Given the description of an element on the screen output the (x, y) to click on. 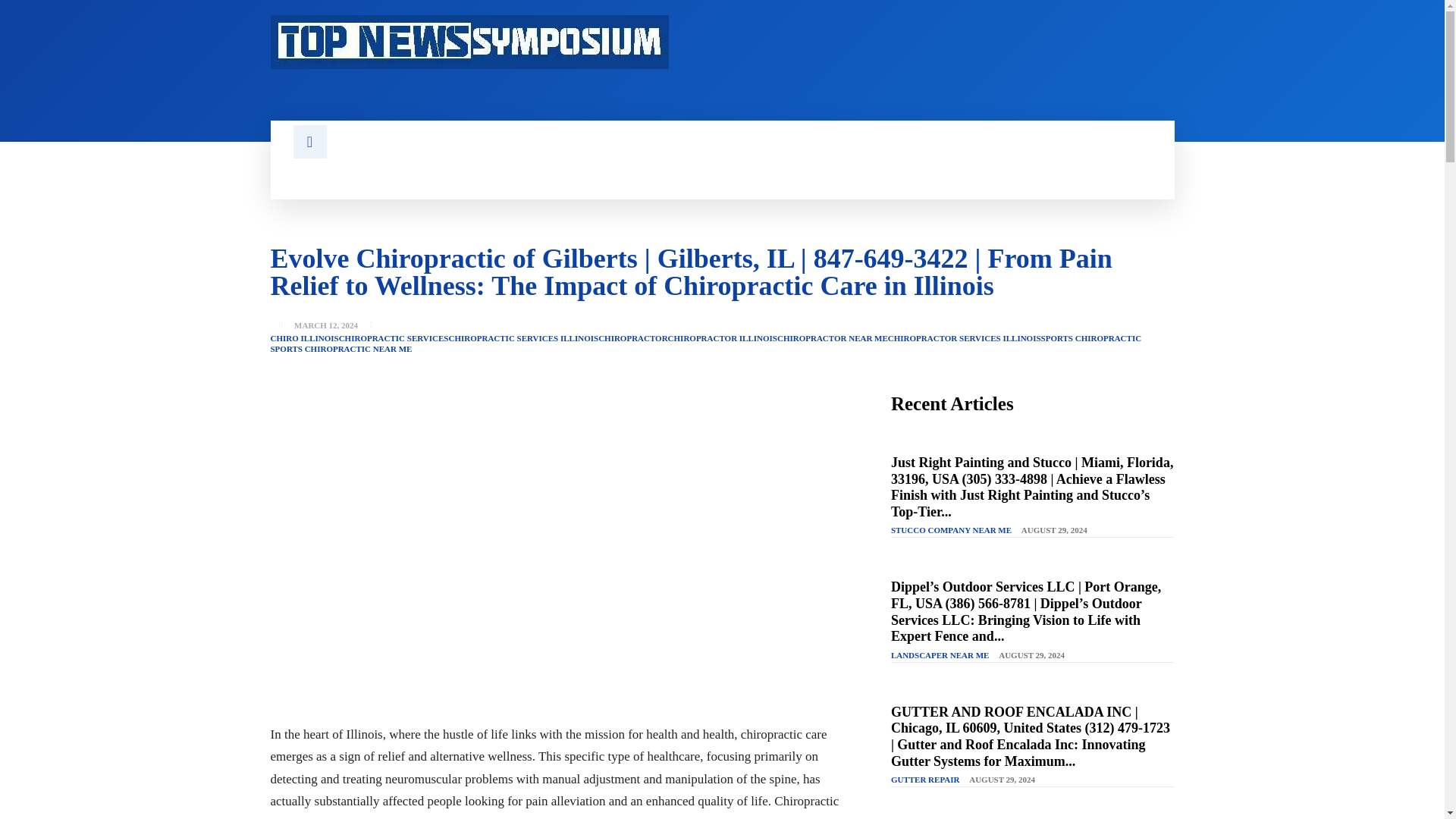
CHIROPRACTIC SERVICES (393, 338)
CHIRO ILLINOIS (303, 338)
CHIROPRACTIC SERVICES ILLINOIS (523, 338)
SPORTS CHIROPRACTIC (1091, 338)
CHIROPRACTOR (632, 338)
CHIROPRACTOR ILLINOIS (722, 338)
CHIROPRACTOR SERVICES ILLINOIS (964, 338)
CHIROPRACTOR NEAR ME (832, 338)
SPORTS CHIROPRACTIC NEAR ME (340, 348)
